Given the description of an element on the screen output the (x, y) to click on. 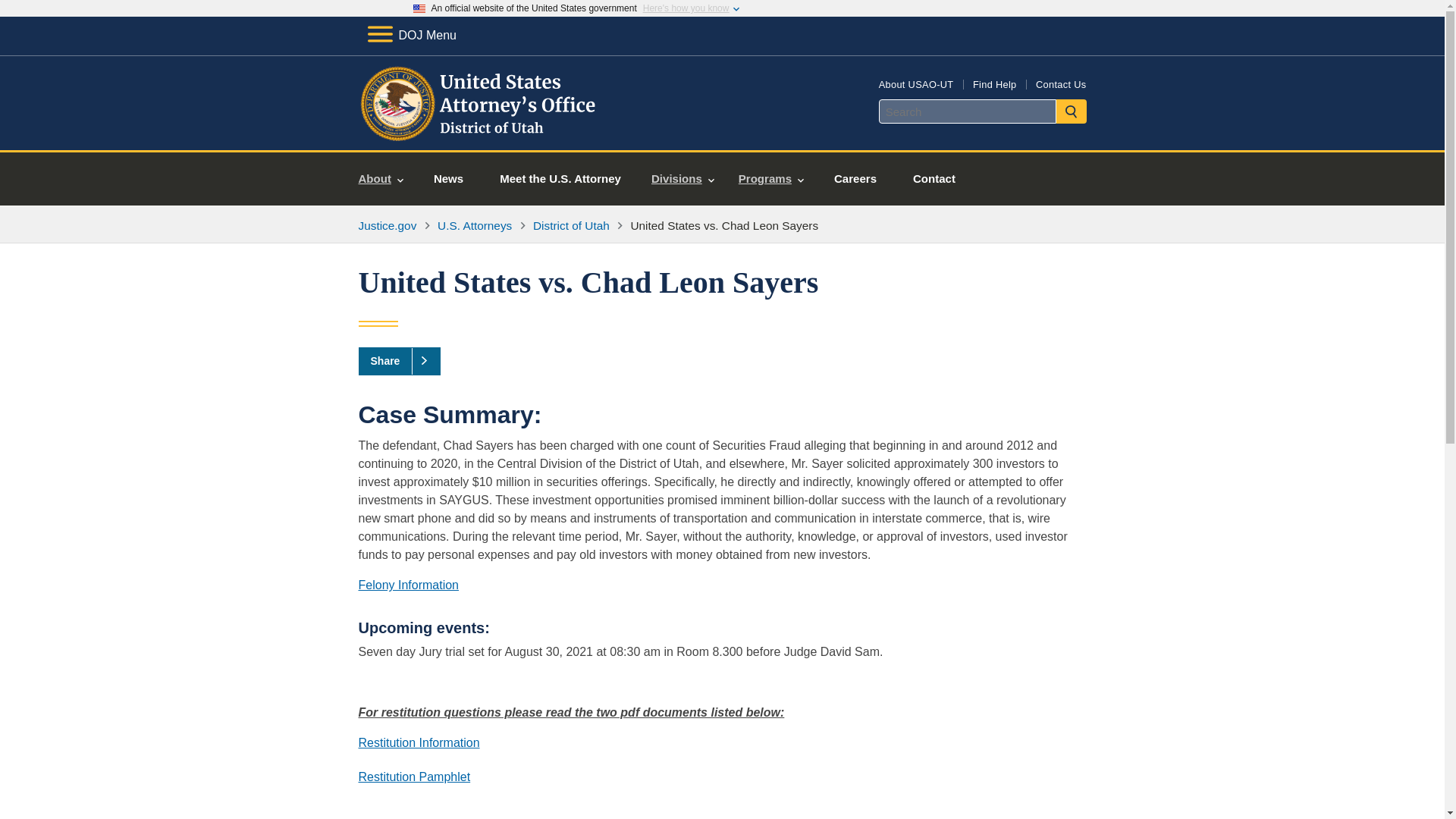
District of Utah (571, 225)
DOJ Menu (411, 35)
Justice.gov (387, 225)
Home (480, 132)
Divisions (682, 179)
Here's how you know (686, 8)
Contact Us (1060, 84)
Felony Information (408, 584)
Find Help (994, 84)
U.S. Attorneys (475, 225)
About USAO-UT (916, 84)
Programs (770, 179)
Careers (855, 179)
News (447, 179)
Contact (934, 179)
